Given the description of an element on the screen output the (x, y) to click on. 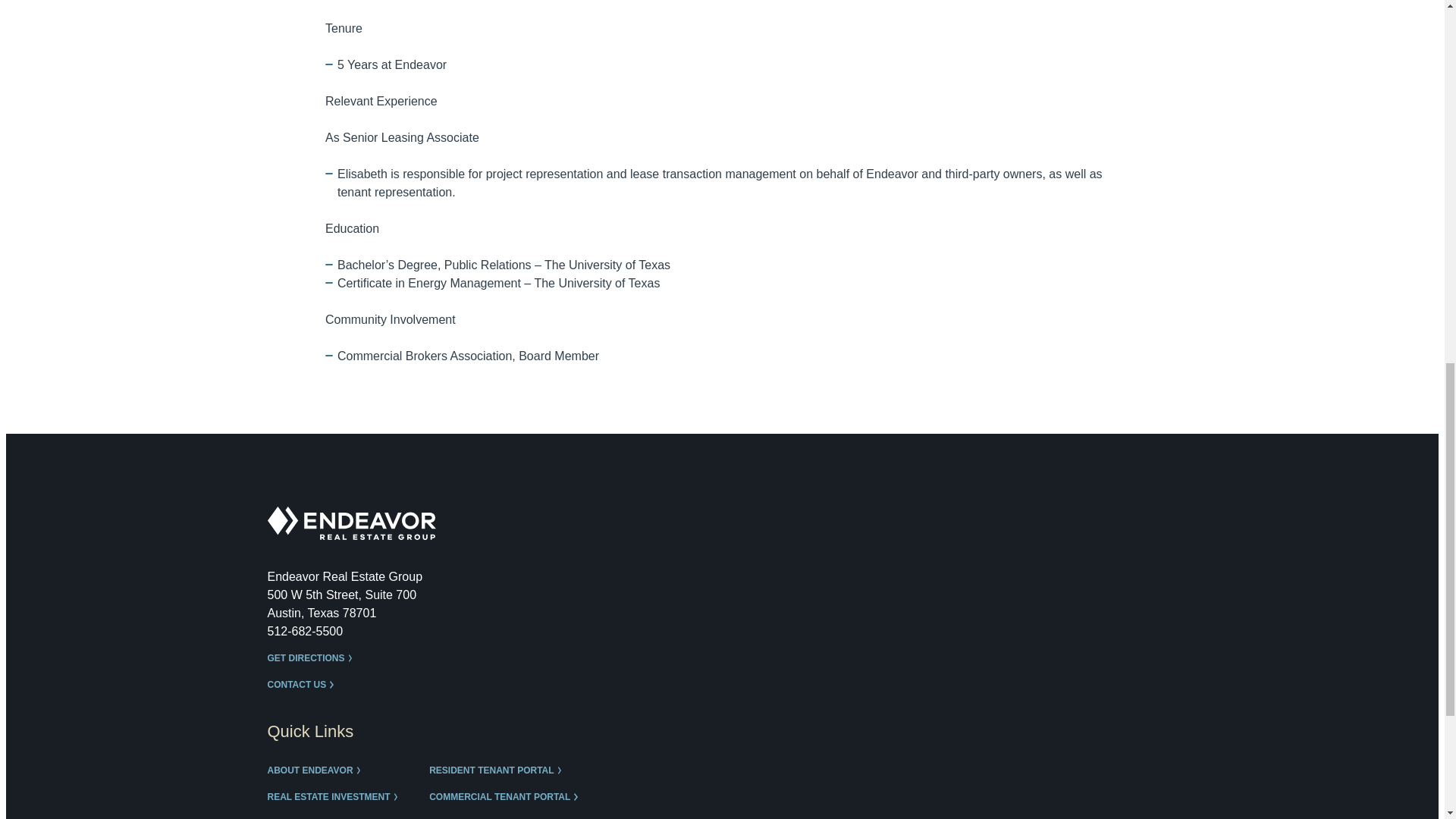
COMMERCIAL TENANT PORTAL (507, 797)
512-682-5500 (304, 631)
RESIDENT TENANT PORTAL (499, 770)
CONTACT US (303, 685)
Endeavor Real Estate Group (350, 522)
ABOUT ENDEAVOR (317, 770)
REAL ESTATE INVESTMENT (335, 797)
GET DIRECTIONS (312, 658)
